Given the description of an element on the screen output the (x, y) to click on. 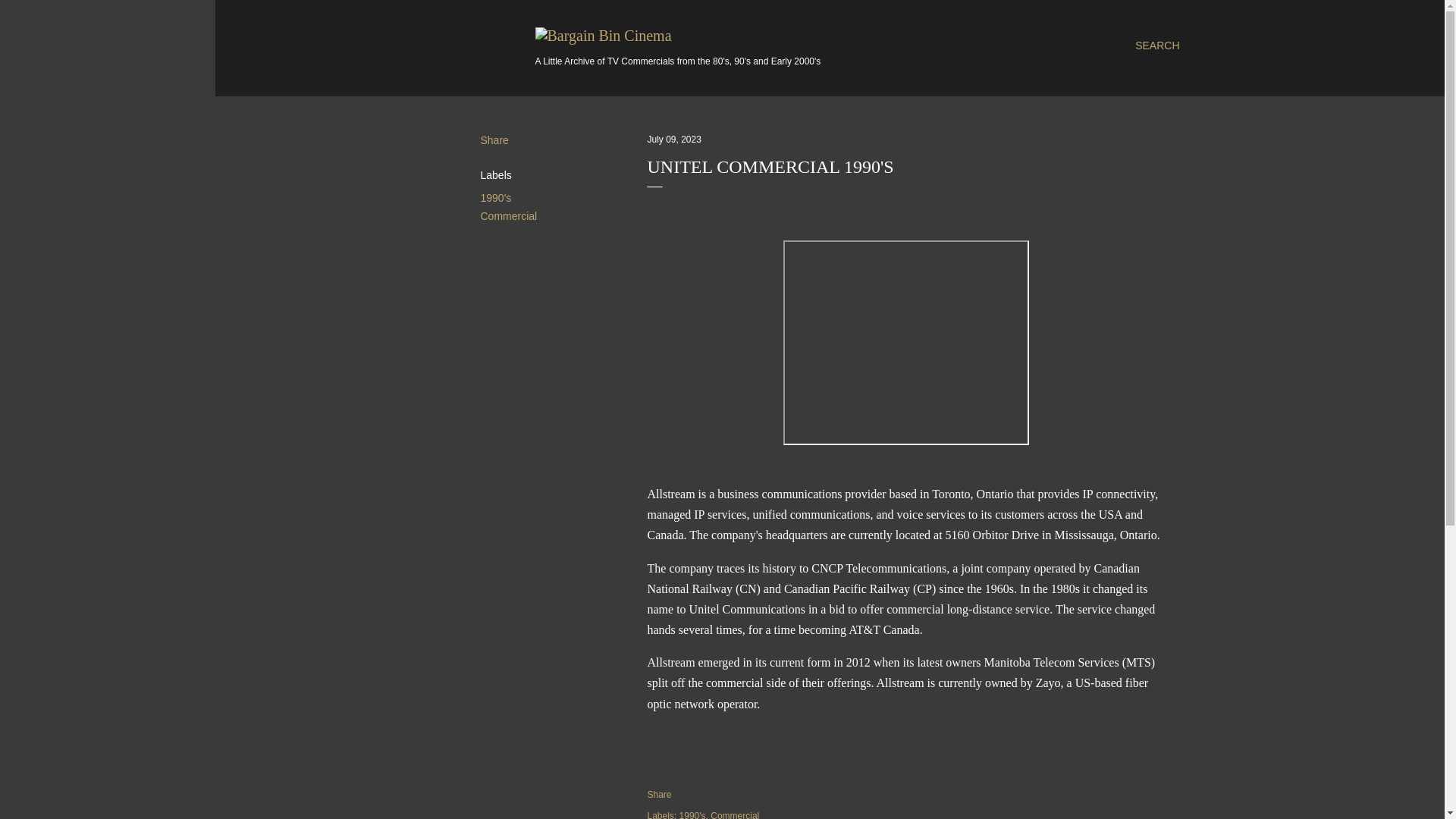
Commercial (508, 215)
SEARCH (1157, 45)
1990's (496, 197)
Commercial (734, 814)
permanent link (674, 139)
July 09, 2023 (674, 139)
Share (659, 794)
1990's (693, 814)
Share (494, 140)
